Given the description of an element on the screen output the (x, y) to click on. 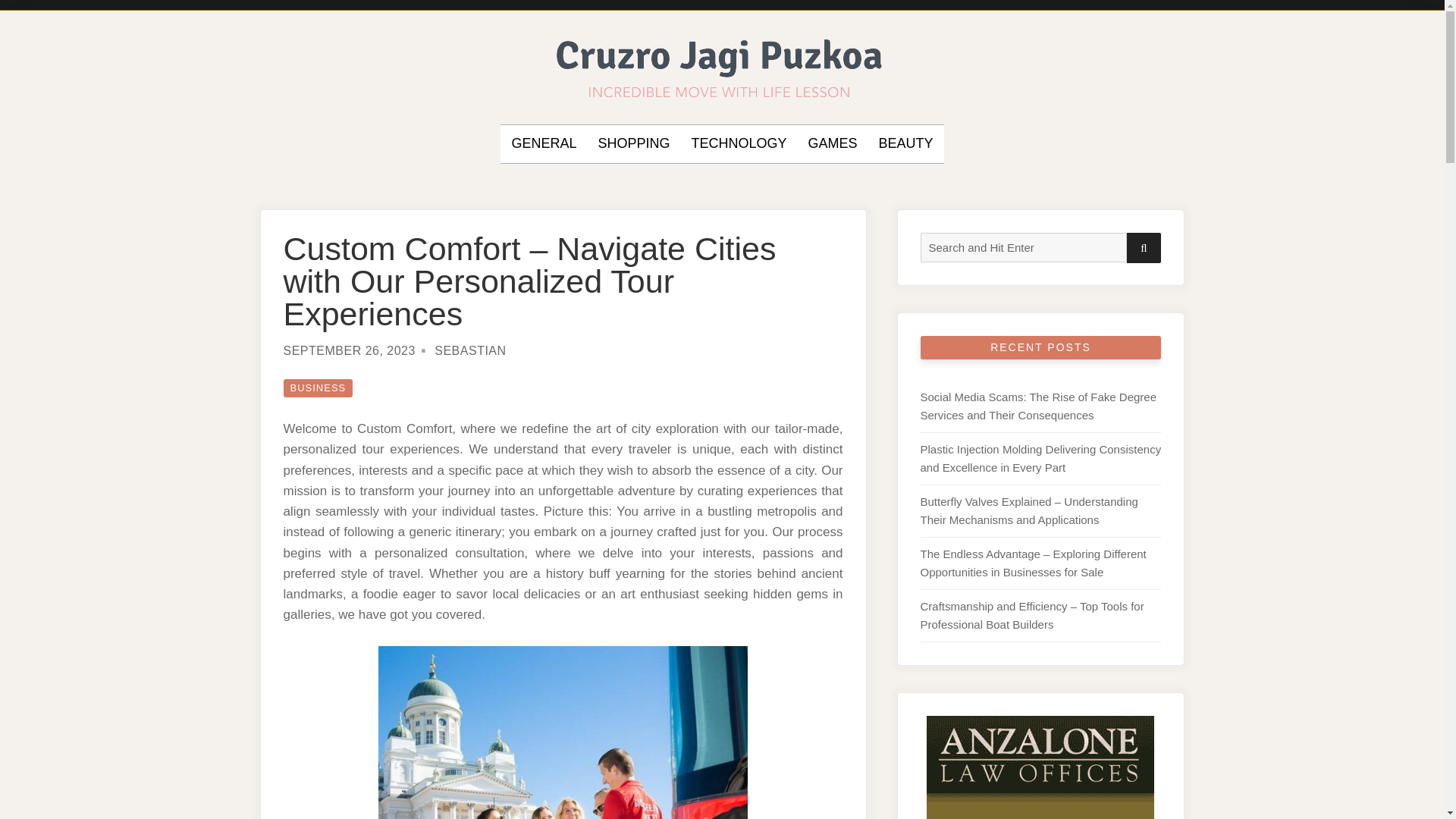
SEPTEMBER 26, 2023 (348, 350)
BUSINESS (318, 388)
GENERAL (543, 143)
TECHNOLOGY (738, 143)
SHOPPING (632, 143)
SEBASTIAN (469, 350)
GAMES (832, 143)
SEARCH (1143, 247)
BEAUTY (906, 143)
